Given the description of an element on the screen output the (x, y) to click on. 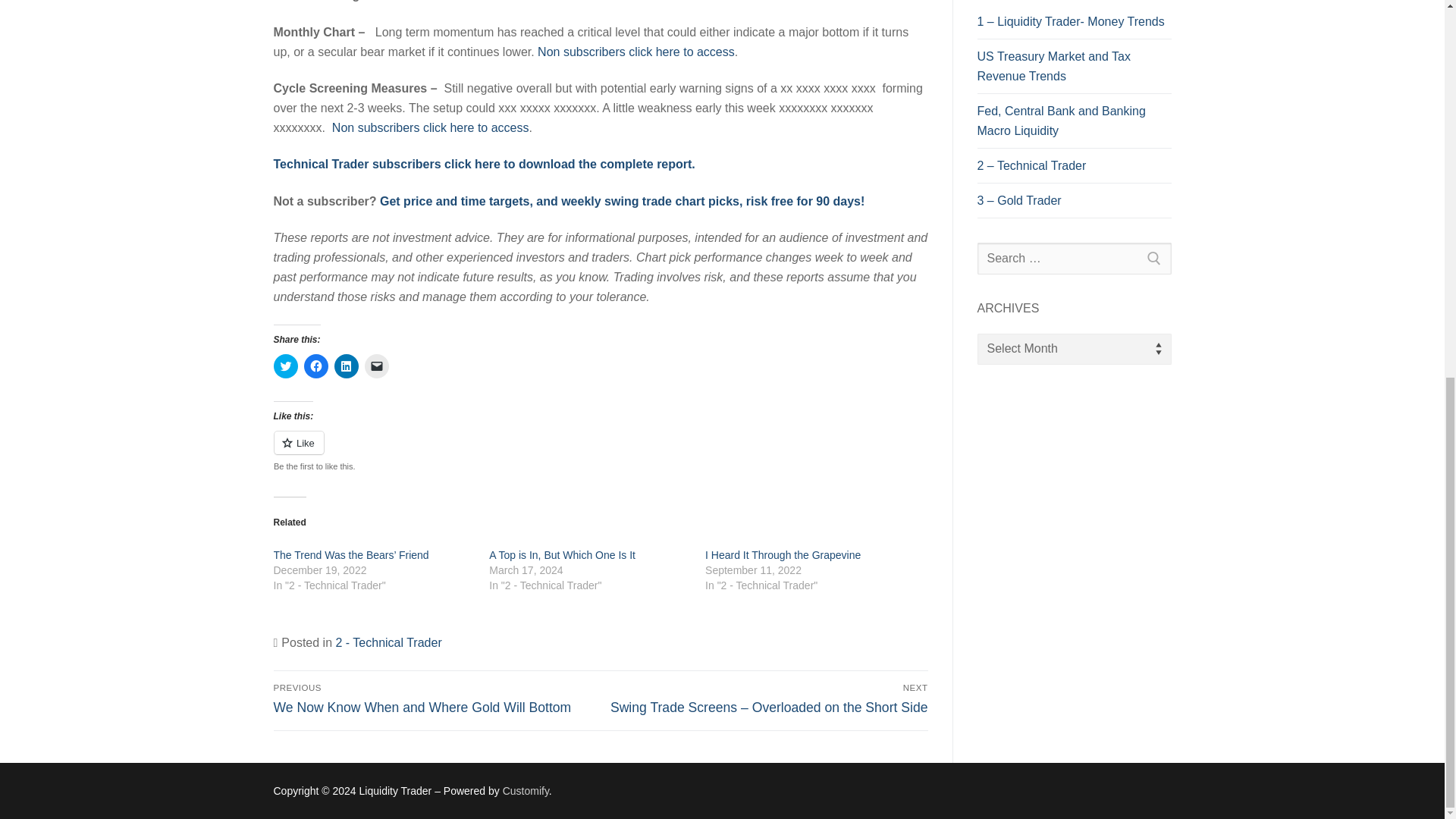
2 - Technical Trader (387, 642)
A Top is In, But Which One Is It (561, 554)
A Top is In, But Which One Is It (561, 554)
Click to share on Facebook (314, 365)
Click to email a link to a friend (376, 365)
Search for: (1073, 258)
Like or Reblog (600, 451)
Non subscribers click here to access (430, 127)
I Heard It Through the Grapevine (782, 554)
Click to share on LinkedIn (345, 365)
Click to share on Twitter (285, 365)
Non subscribers click here to access (636, 51)
